Given the description of an element on the screen output the (x, y) to click on. 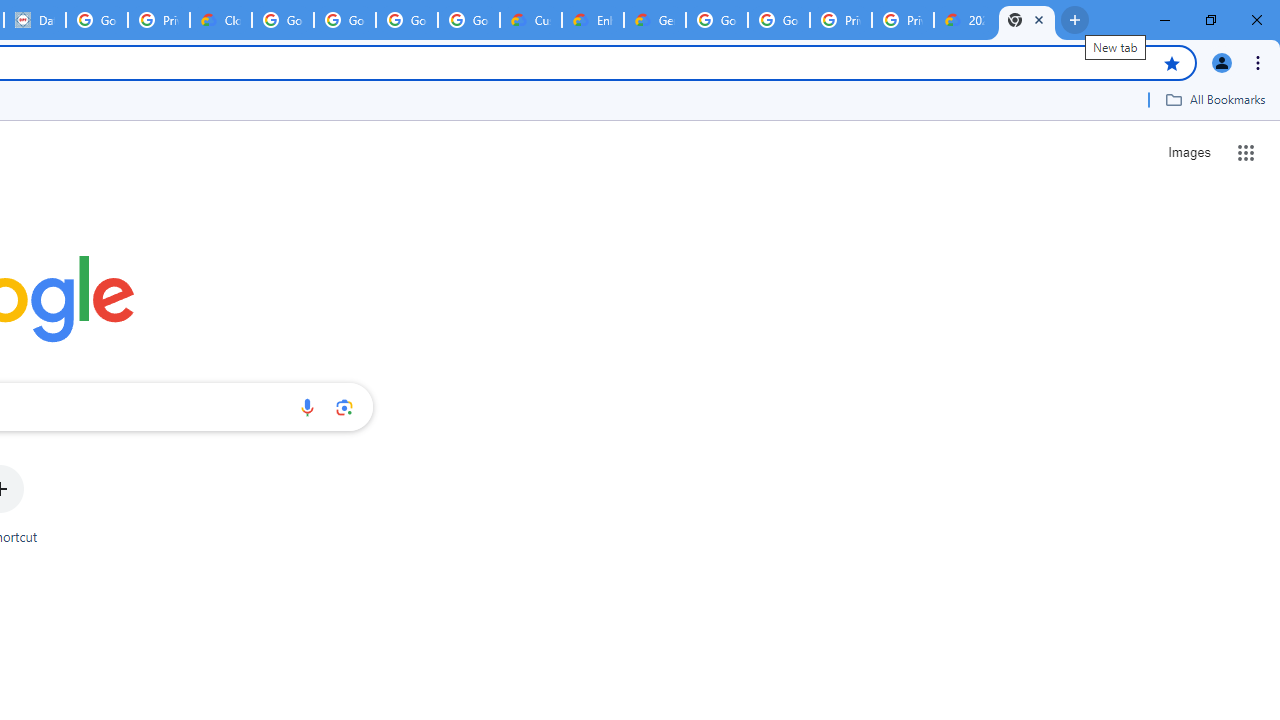
New Tab (1026, 20)
Google Workspace - Specific Terms (406, 20)
